Given the description of an element on the screen output the (x, y) to click on. 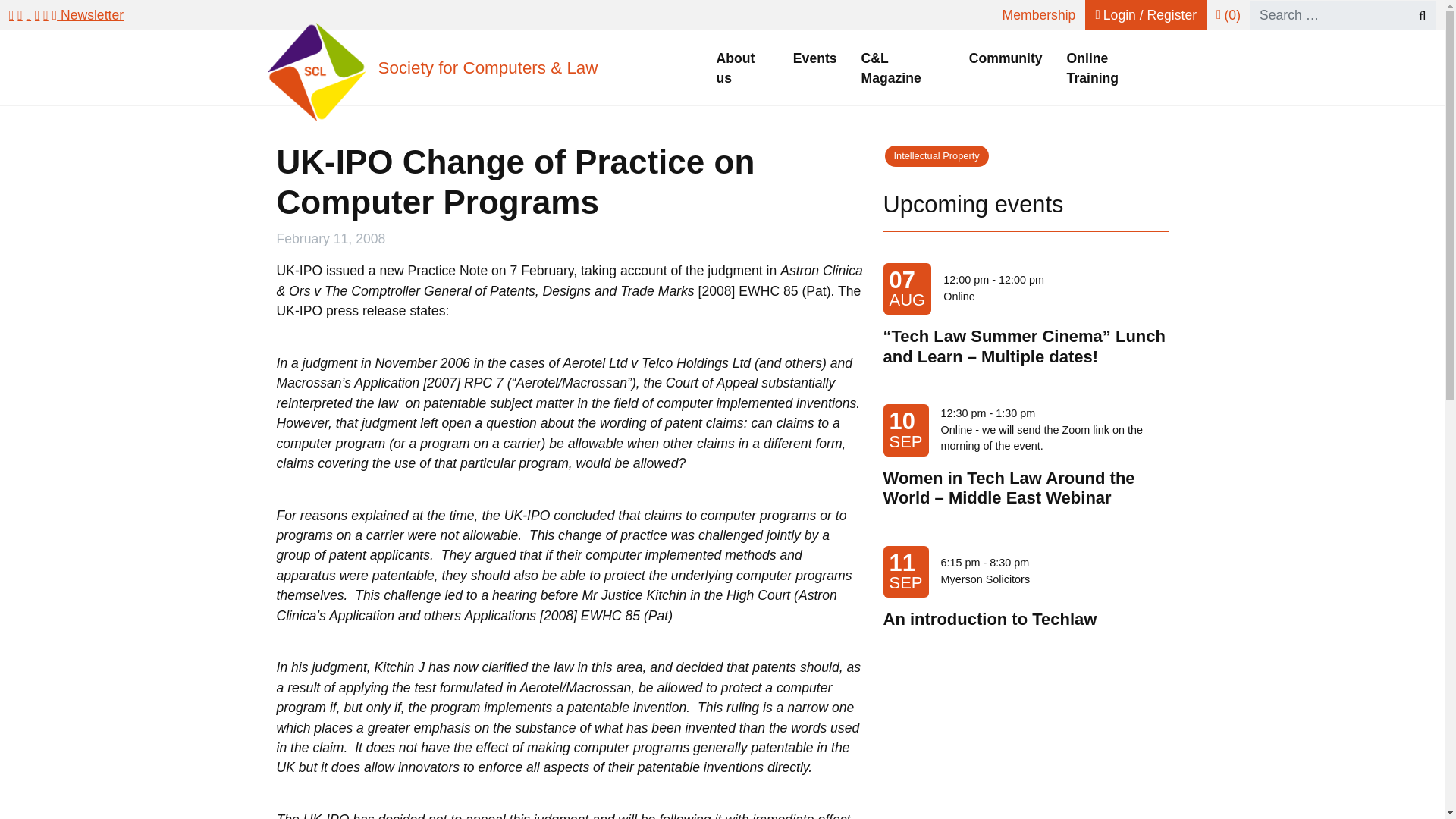
About us (741, 68)
Shopping basket (1228, 15)
Online Training (1111, 68)
Search (1415, 14)
About us (741, 68)
Online Training (1111, 68)
Login (1145, 15)
Intellectual Property (936, 155)
Events (814, 58)
Newsletter (87, 14)
An introduction to Techlaw (990, 618)
Events (814, 58)
Search (1415, 14)
Search (1415, 14)
Community (1005, 58)
